Given the description of an element on the screen output the (x, y) to click on. 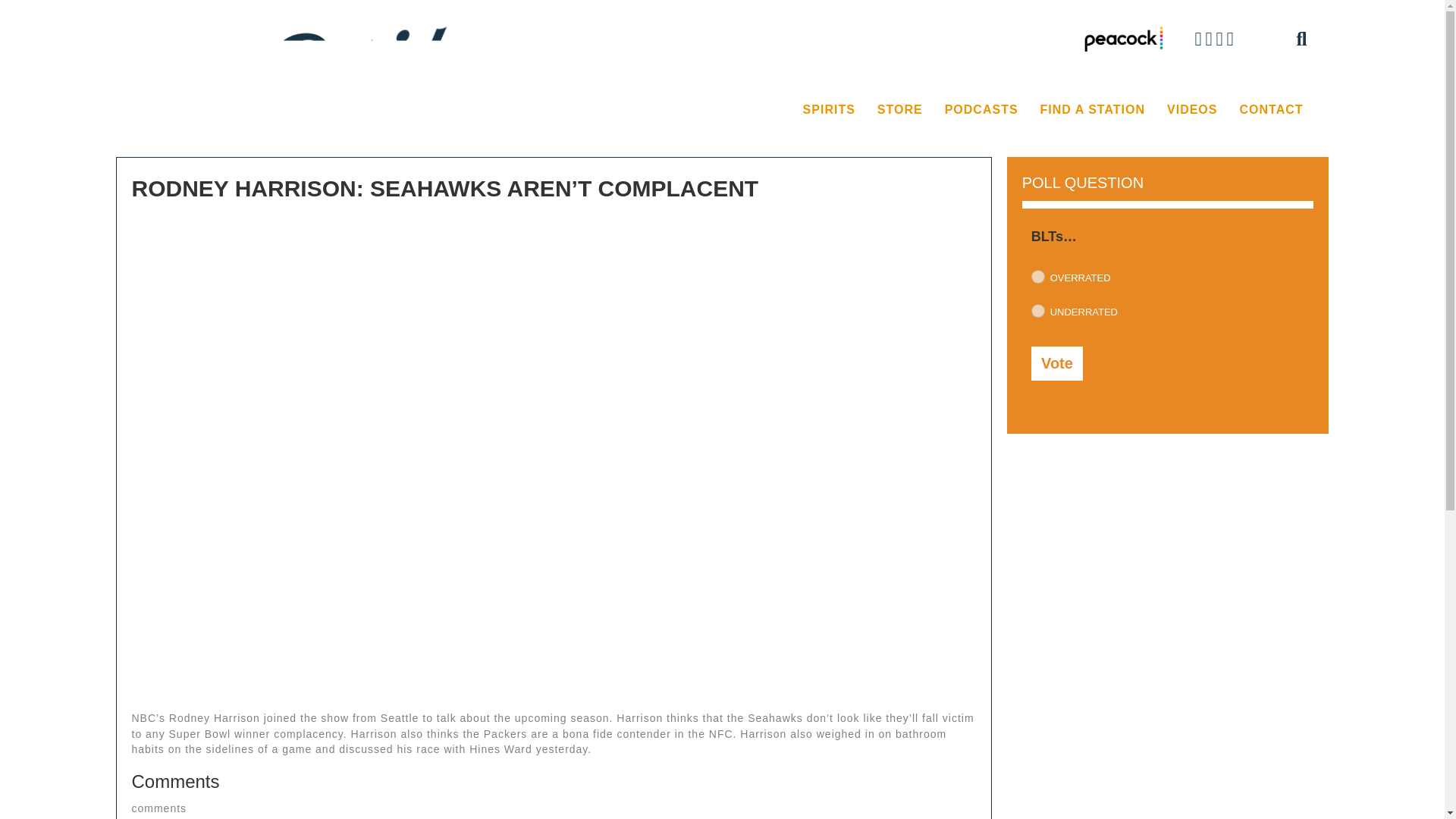
63177633 (1037, 276)
FIND A STATION (1092, 109)
63177634 (1037, 310)
VIDEOS (1191, 109)
logo (309, 70)
Vote (1056, 363)
STORE (899, 109)
SPIRITS (829, 109)
PODCASTS (981, 109)
CONTACT (1270, 109)
